Given the description of an element on the screen output the (x, y) to click on. 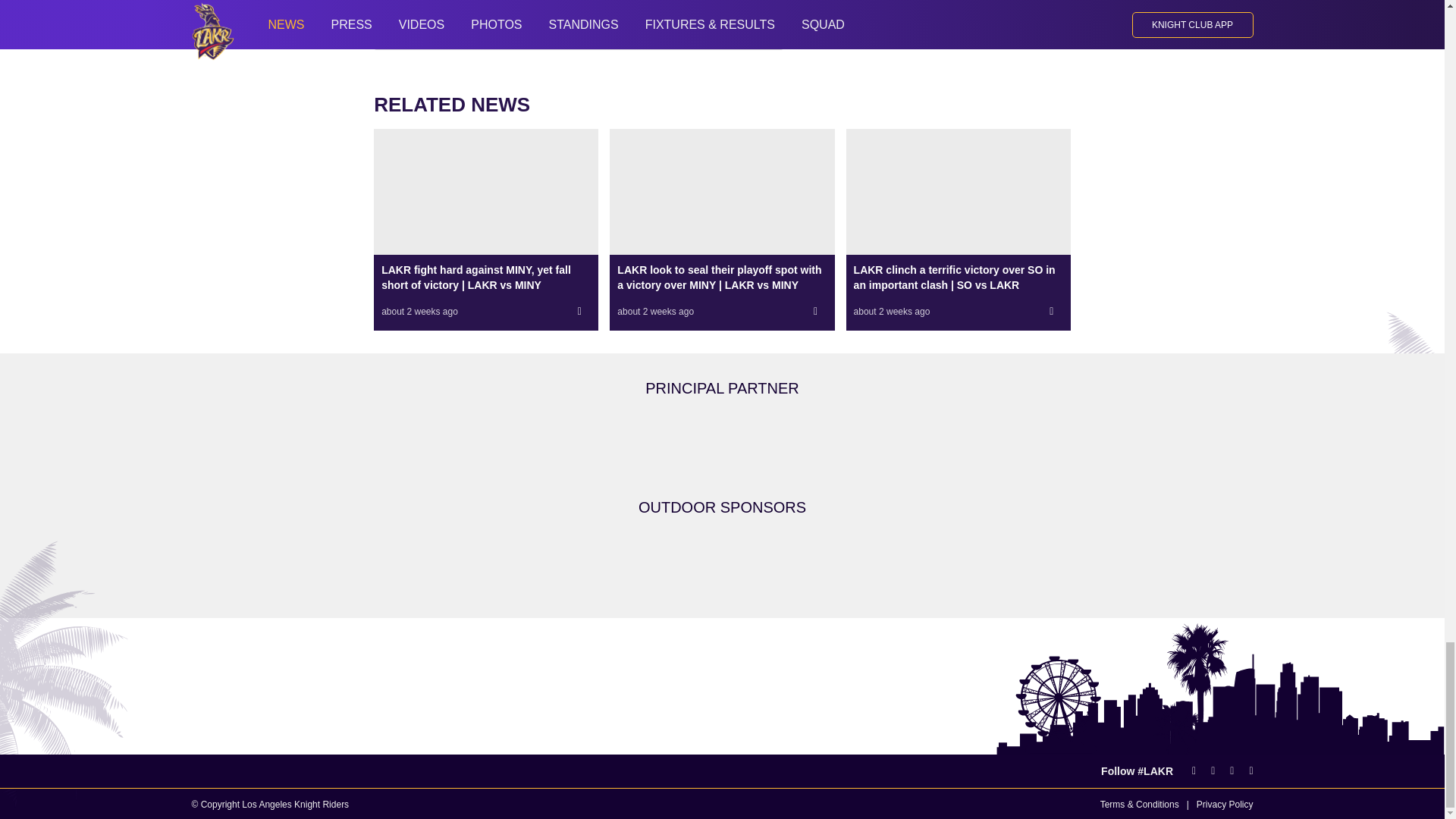
Privacy Policy (1224, 805)
Share (579, 311)
Share (1051, 311)
Share (816, 311)
